Given the description of an element on the screen output the (x, y) to click on. 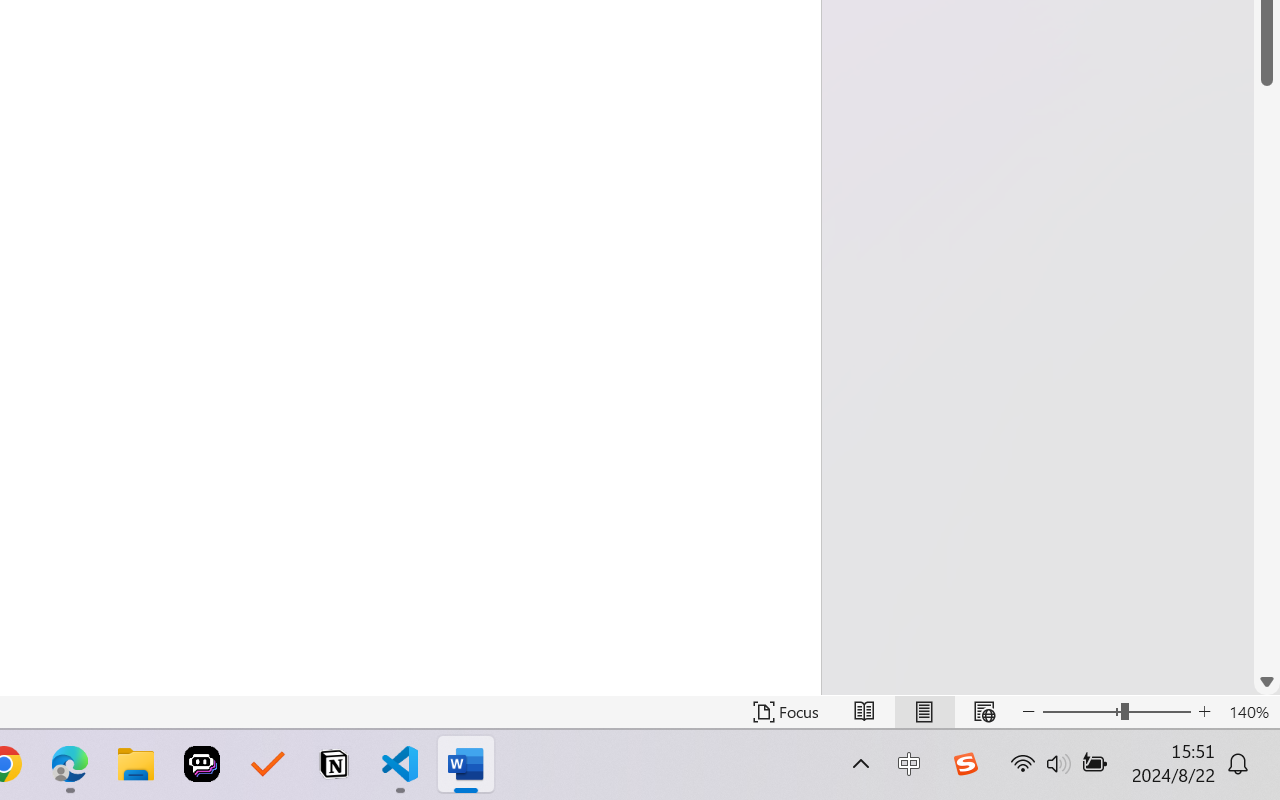
Zoom Out (1081, 712)
Line down (1267, 681)
Page down (1267, 377)
Web Layout (984, 712)
Zoom 140% (1249, 712)
Zoom (1116, 712)
Zoom In (1204, 712)
Focus  (786, 712)
Class: Image (965, 764)
Read Mode (864, 712)
Print Layout (924, 712)
